Given the description of an element on the screen output the (x, y) to click on. 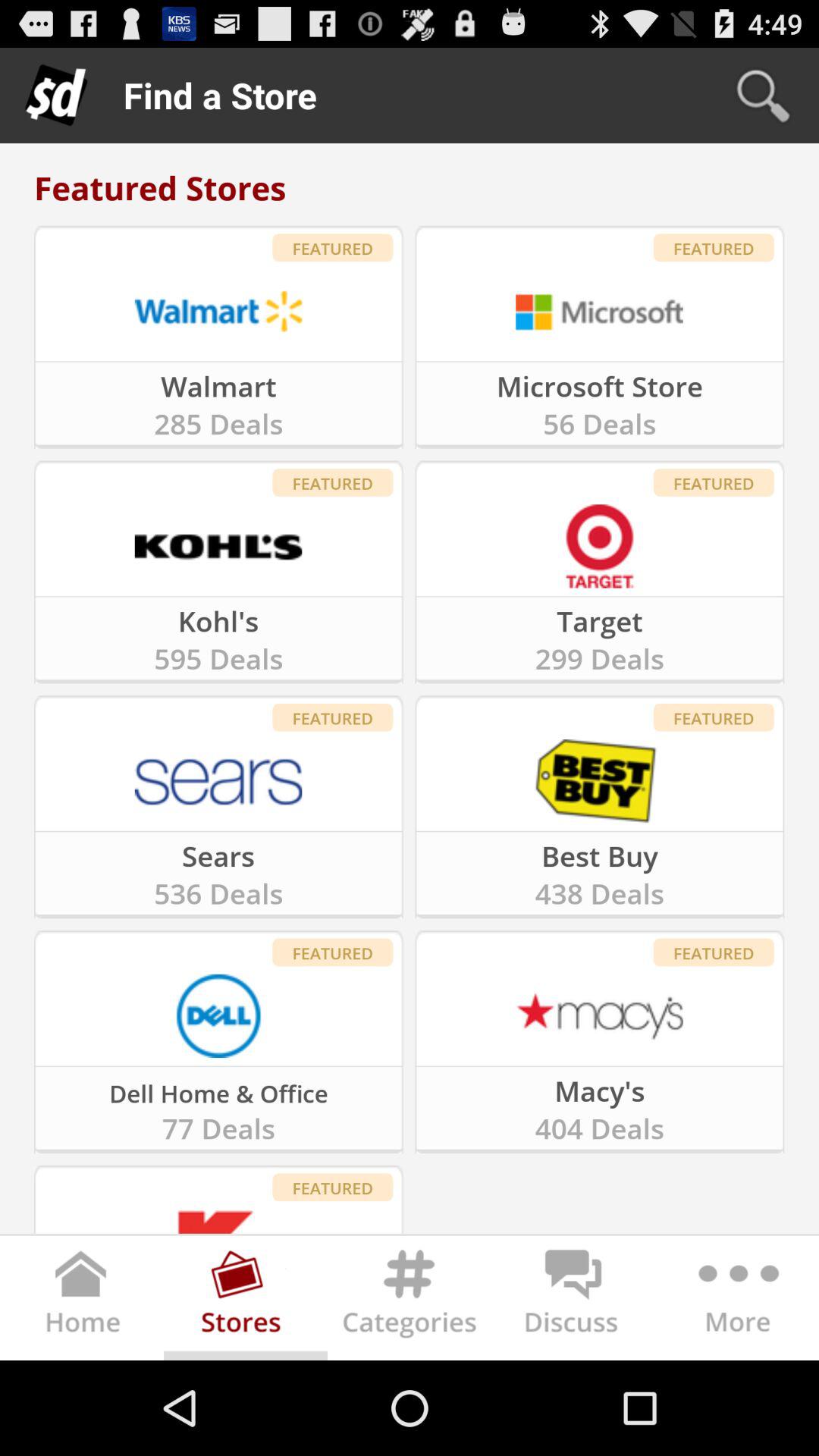
click the icon above the featured stores (763, 95)
